Given the description of an element on the screen output the (x, y) to click on. 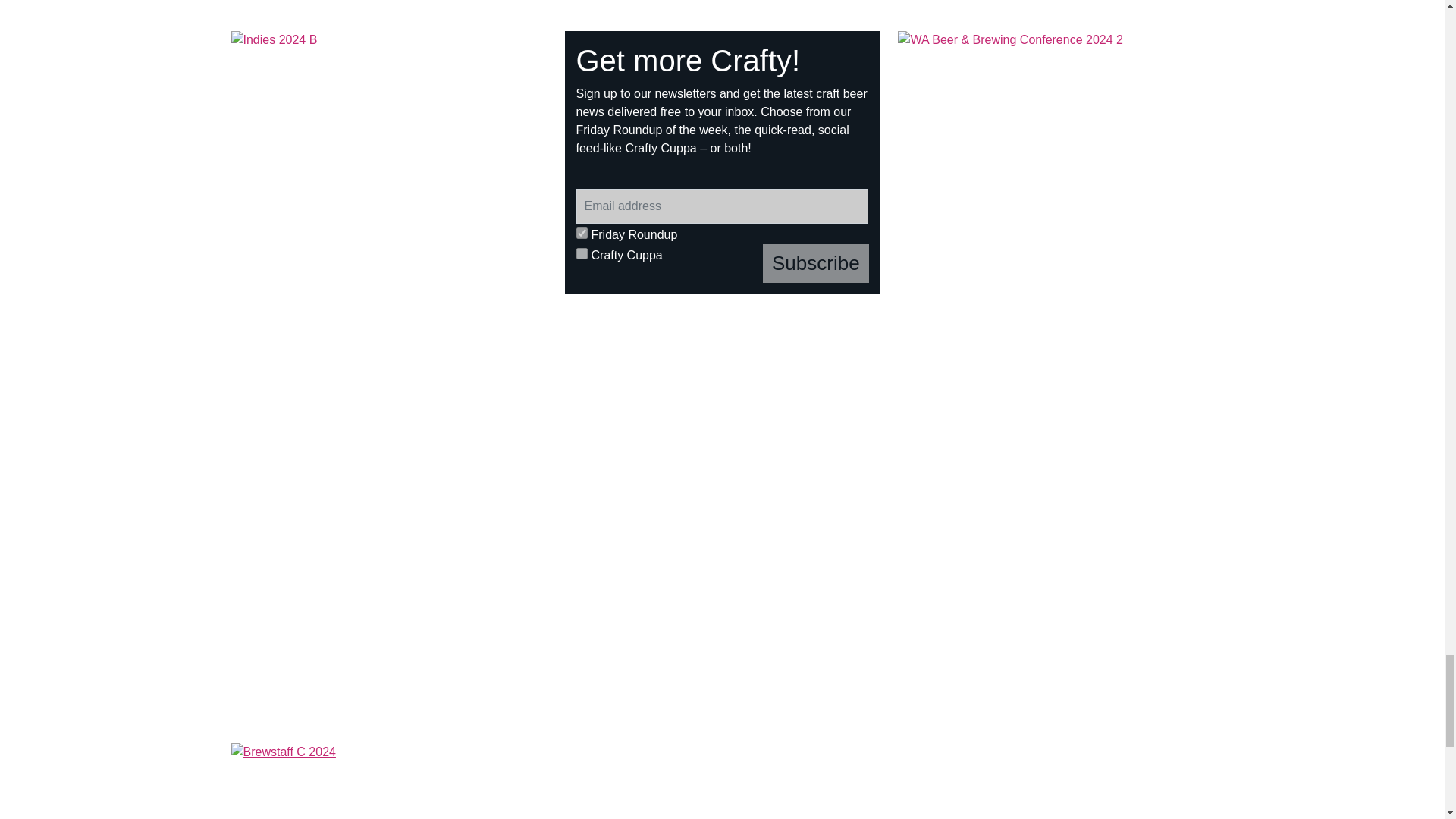
Indies 2024 B (389, 149)
Brewstaff C 2024 (721, 775)
cuppa (582, 253)
Subscribe (815, 263)
friday (582, 233)
